Given the description of an element on the screen output the (x, y) to click on. 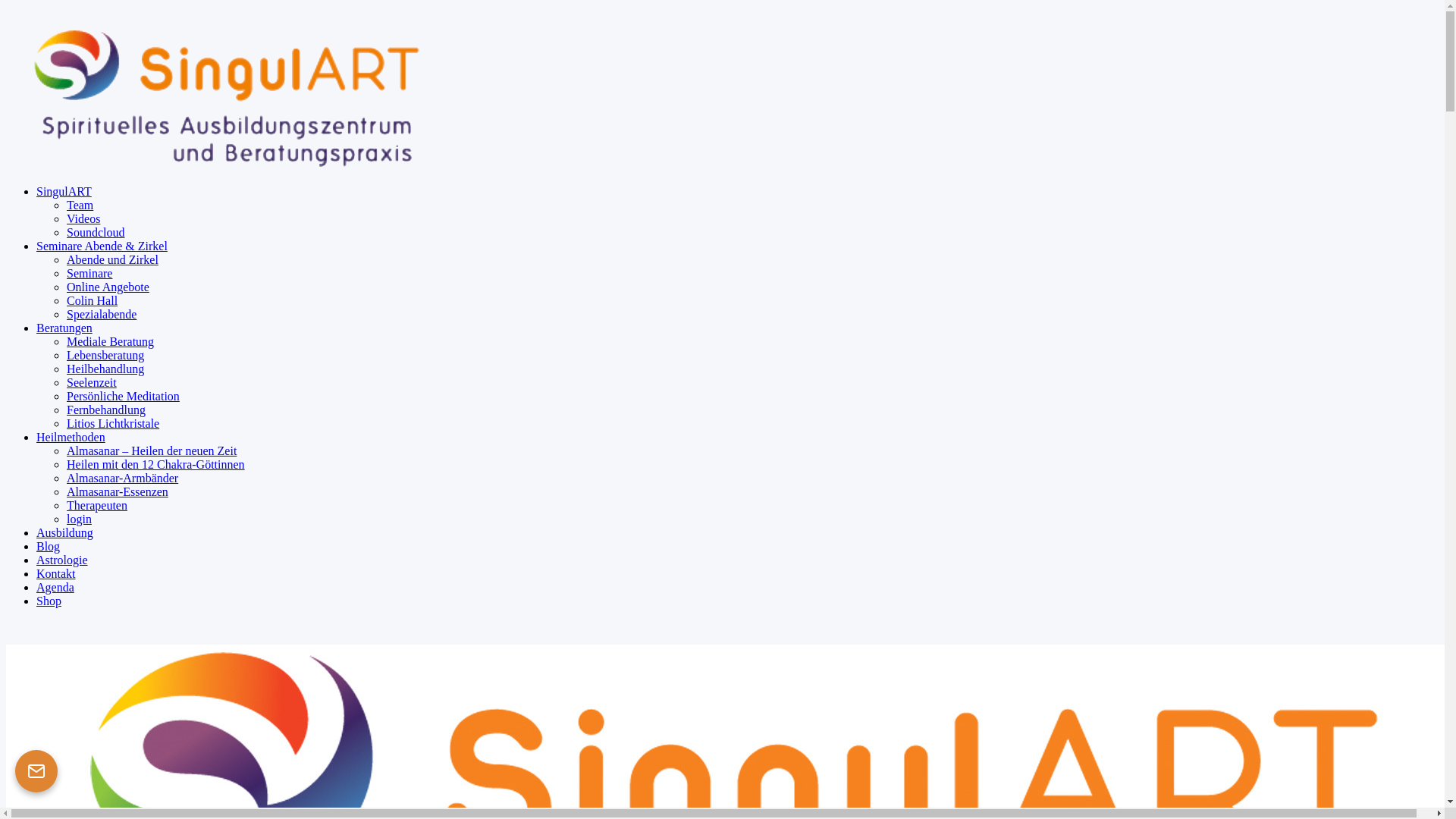
Therapeuten Element type: text (96, 504)
Astrologie Element type: text (61, 559)
Heilbehandlung Element type: text (105, 368)
Seminare Abende & Zirkel Element type: text (101, 245)
login Element type: text (78, 518)
Agenda Element type: text (55, 586)
Videos Element type: text (83, 218)
Mediale Beratung Element type: text (109, 341)
Seminare Element type: text (89, 272)
Team Element type: text (79, 204)
Spezialabende Element type: text (101, 313)
SingulART Element type: text (63, 191)
Kontakt Element type: text (55, 573)
Ausbildung Element type: text (64, 532)
Almasanar-Essenzen Element type: text (117, 491)
Colin Hall Element type: text (91, 300)
Soundcloud Element type: text (95, 231)
Blog Element type: text (47, 545)
Litios Lichtkristale Element type: text (112, 423)
Fernbehandlung Element type: text (105, 409)
Heilmethoden Element type: text (70, 436)
Seelenzeit Element type: text (91, 382)
Online Angebote Element type: text (107, 286)
Lebensberatung Element type: text (105, 354)
Beratungen Element type: text (64, 327)
Shop Element type: text (48, 600)
Abende und Zirkel Element type: text (112, 259)
